Given the description of an element on the screen output the (x, y) to click on. 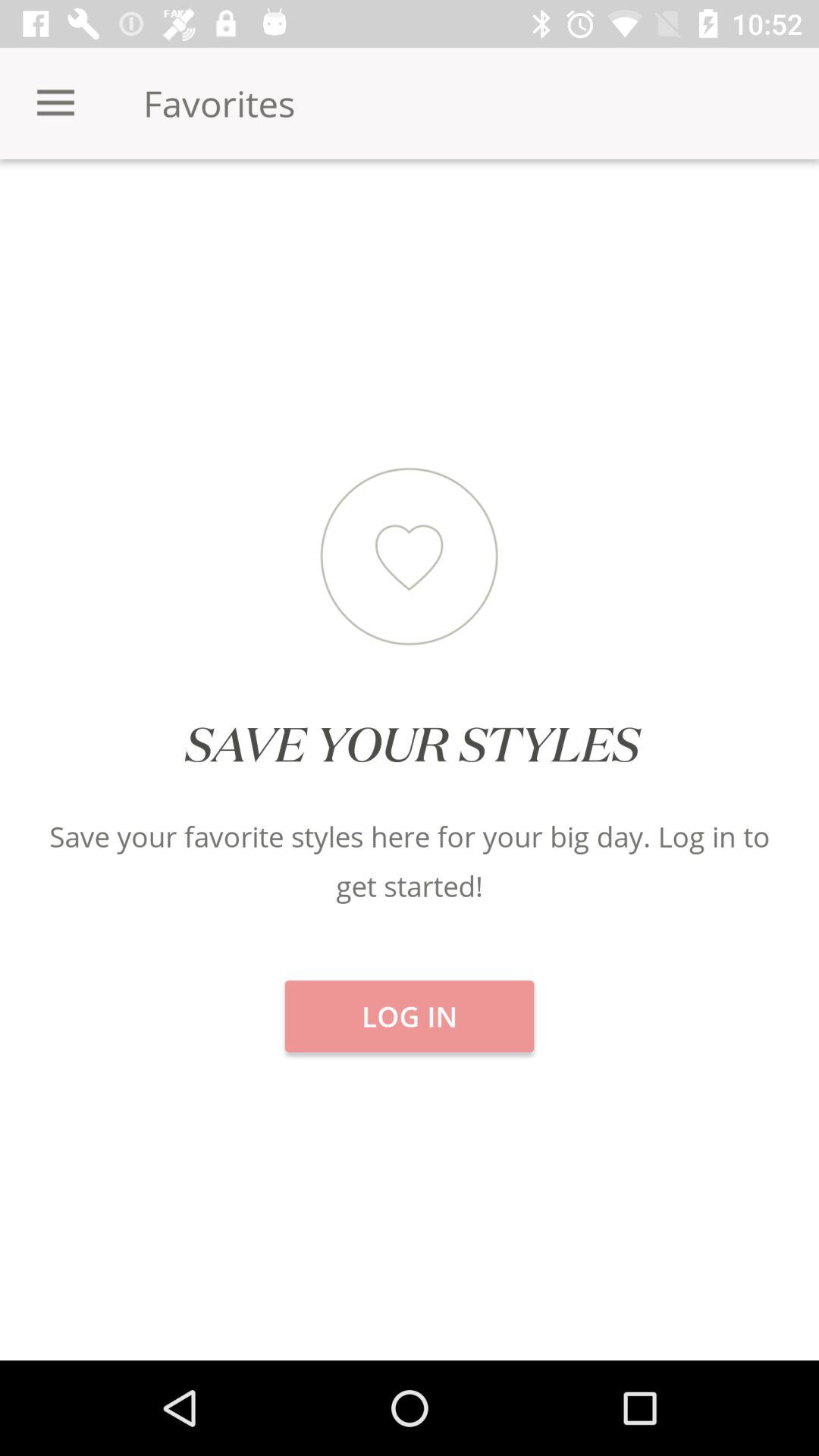
launch the icon next to featured icon (682, 212)
